Given the description of an element on the screen output the (x, y) to click on. 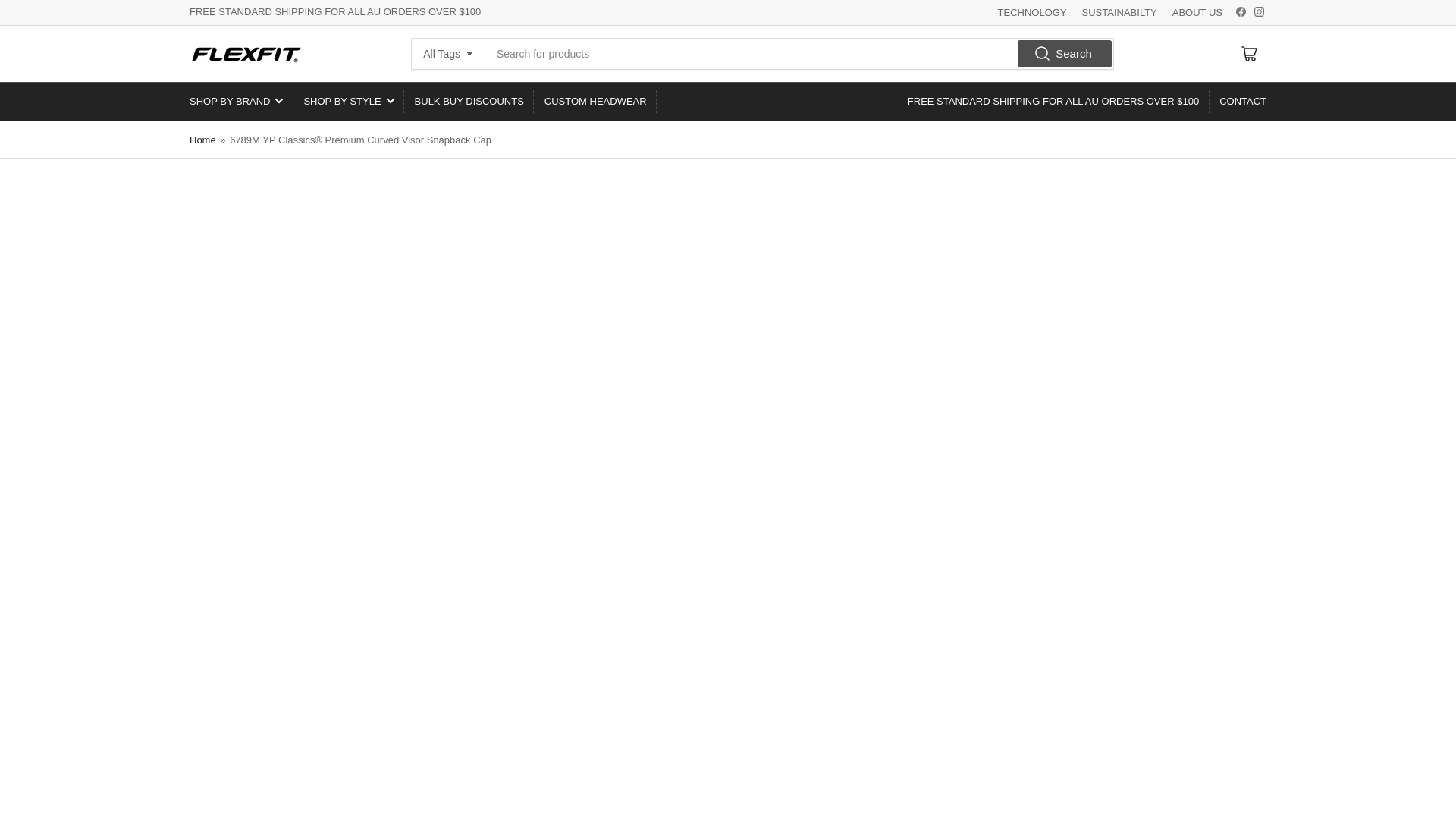
Search (1063, 53)
ABOUT US (1197, 12)
Facebook (1240, 11)
TECHNOLOGY (1032, 12)
Open mini cart (1249, 52)
SUSTAINABILTY (1119, 12)
Instagram (1259, 11)
